Given the description of an element on the screen output the (x, y) to click on. 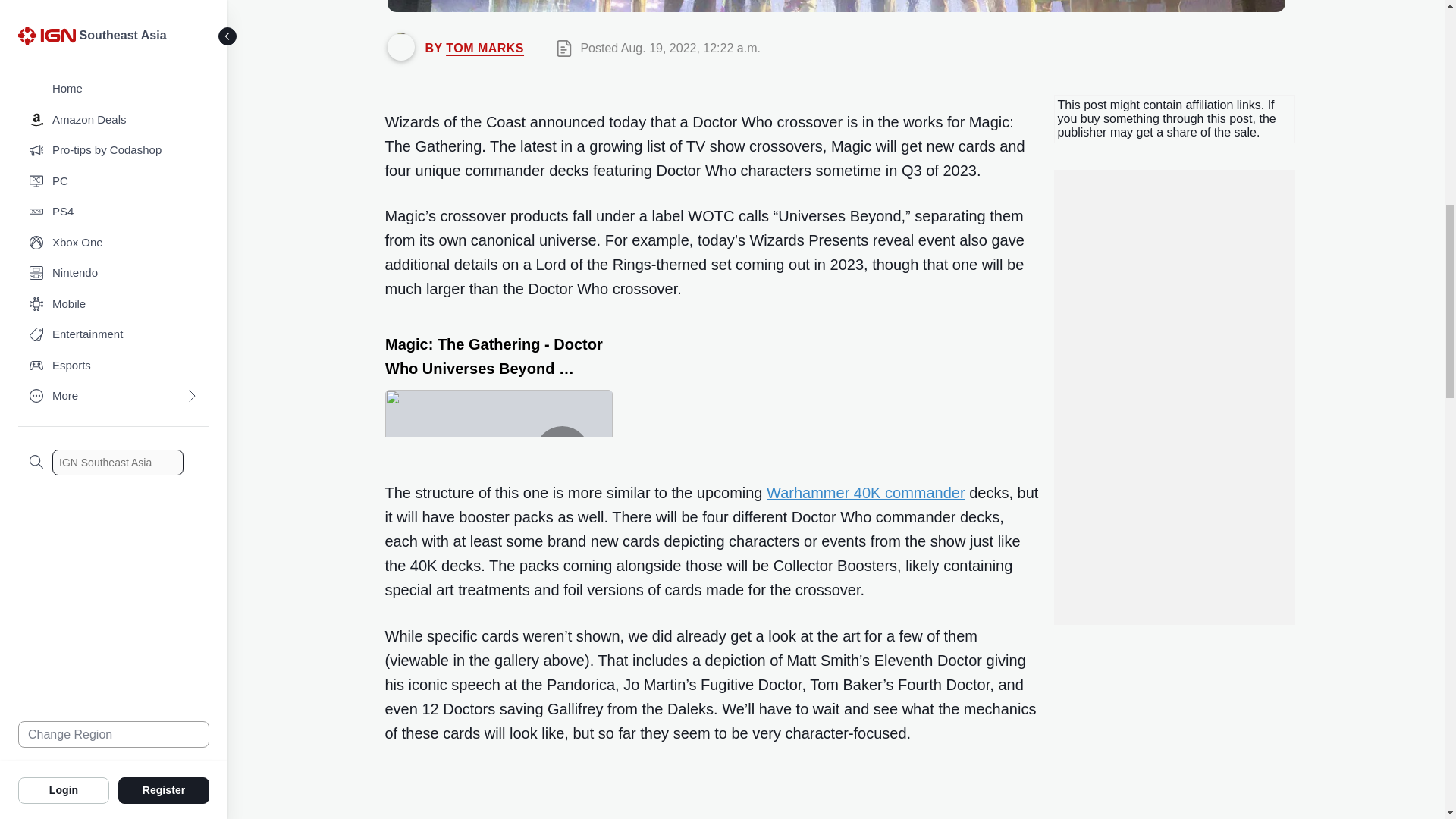
TOM MARKS (484, 47)
